Given the description of an element on the screen output the (x, y) to click on. 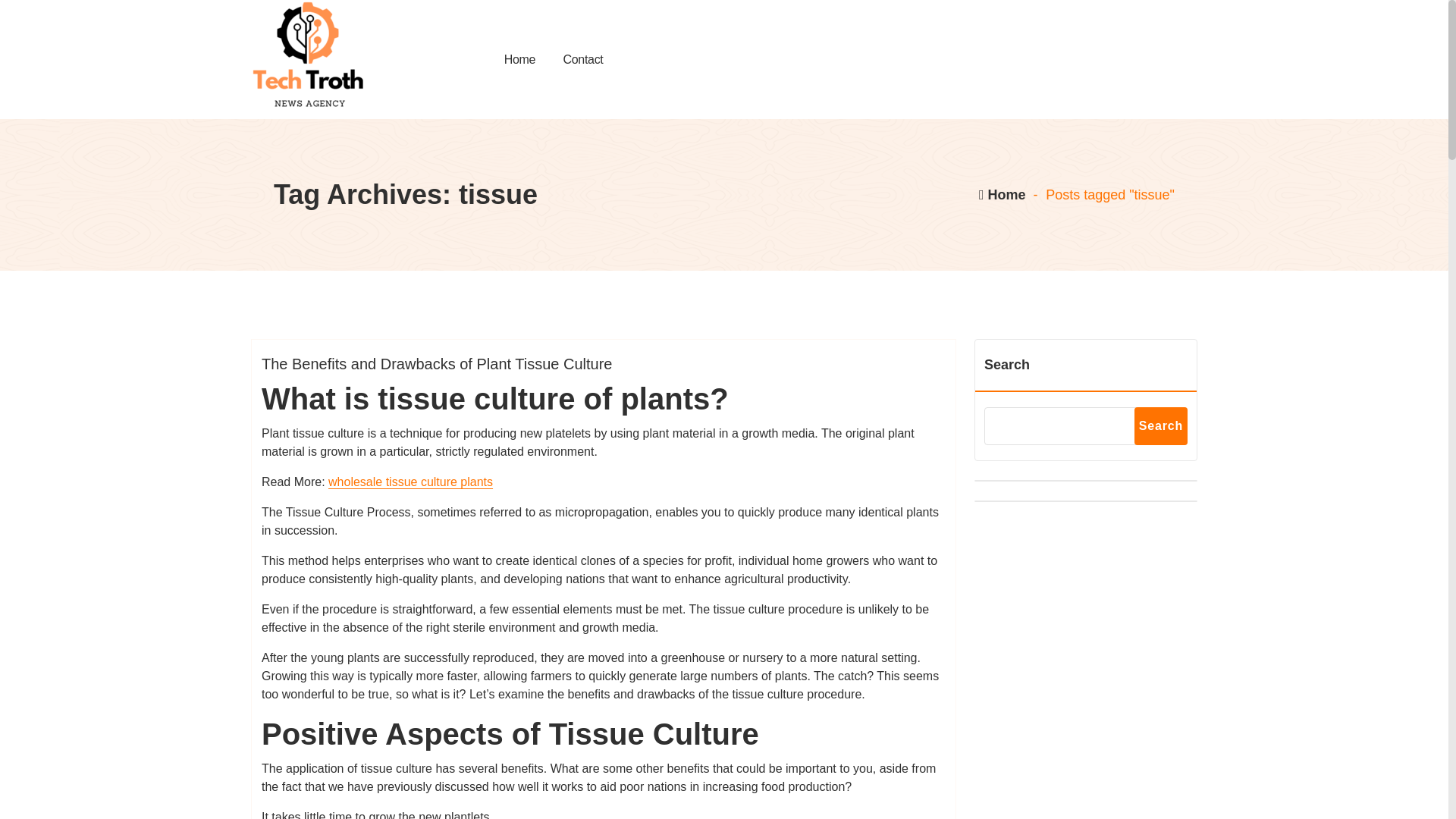
wholesale tissue culture plants (411, 481)
The Benefits and Drawbacks of Plant Tissue Culture (436, 363)
Home (1001, 193)
Contact (582, 59)
Home (520, 59)
Home (520, 59)
Contact (582, 59)
